Given the description of an element on the screen output the (x, y) to click on. 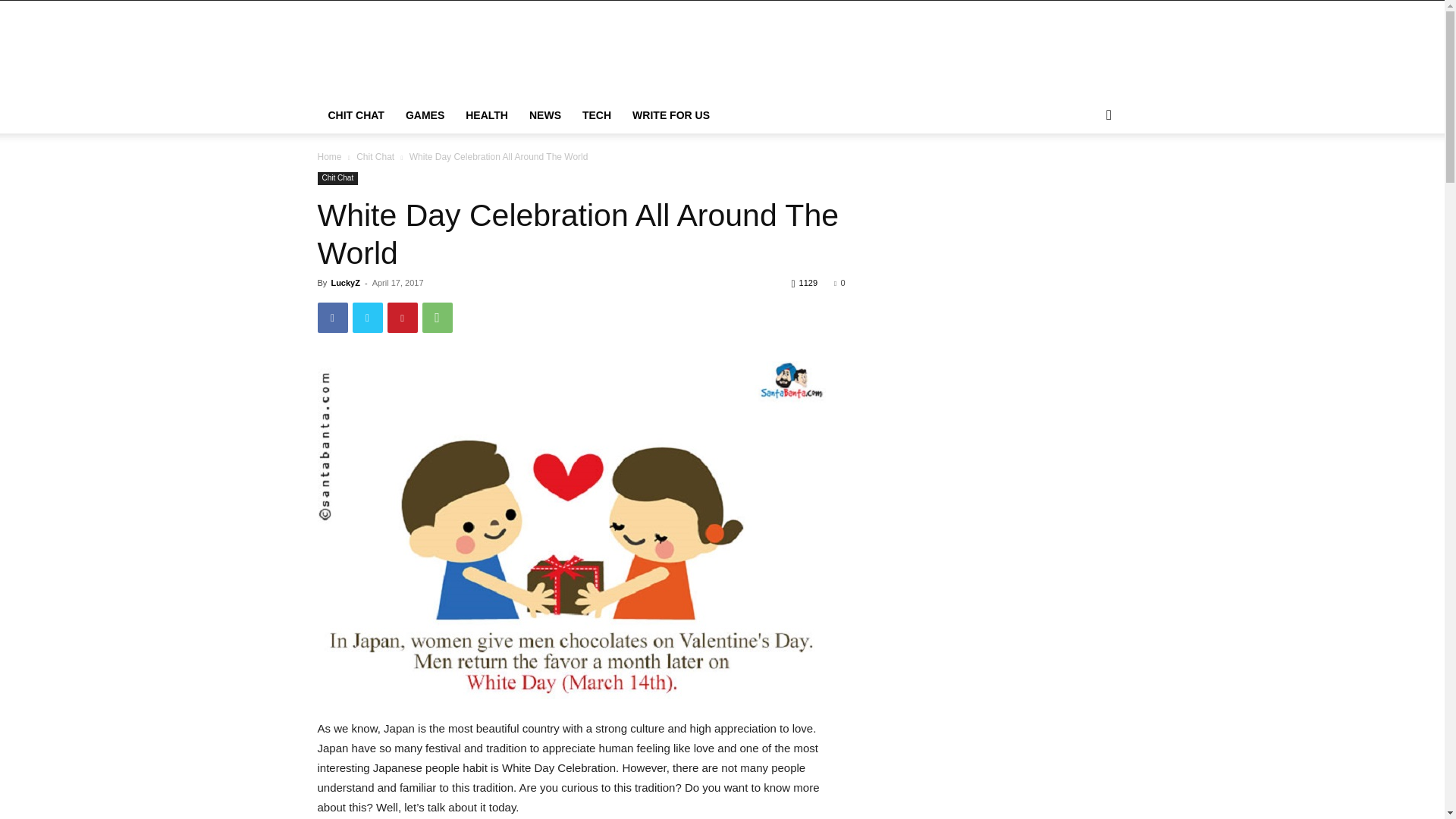
GAMES (424, 115)
Search (1085, 175)
WhatsApp (436, 317)
HEALTH (486, 115)
Home (328, 156)
Chit Chat (375, 156)
WRITE FOR US (670, 115)
TECH (596, 115)
LuckyZ (344, 282)
Twitter (366, 317)
Facebook (332, 317)
Pinterest (401, 317)
0 (839, 282)
NEWS (545, 115)
View all posts in Chit Chat (375, 156)
